Given the description of an element on the screen output the (x, y) to click on. 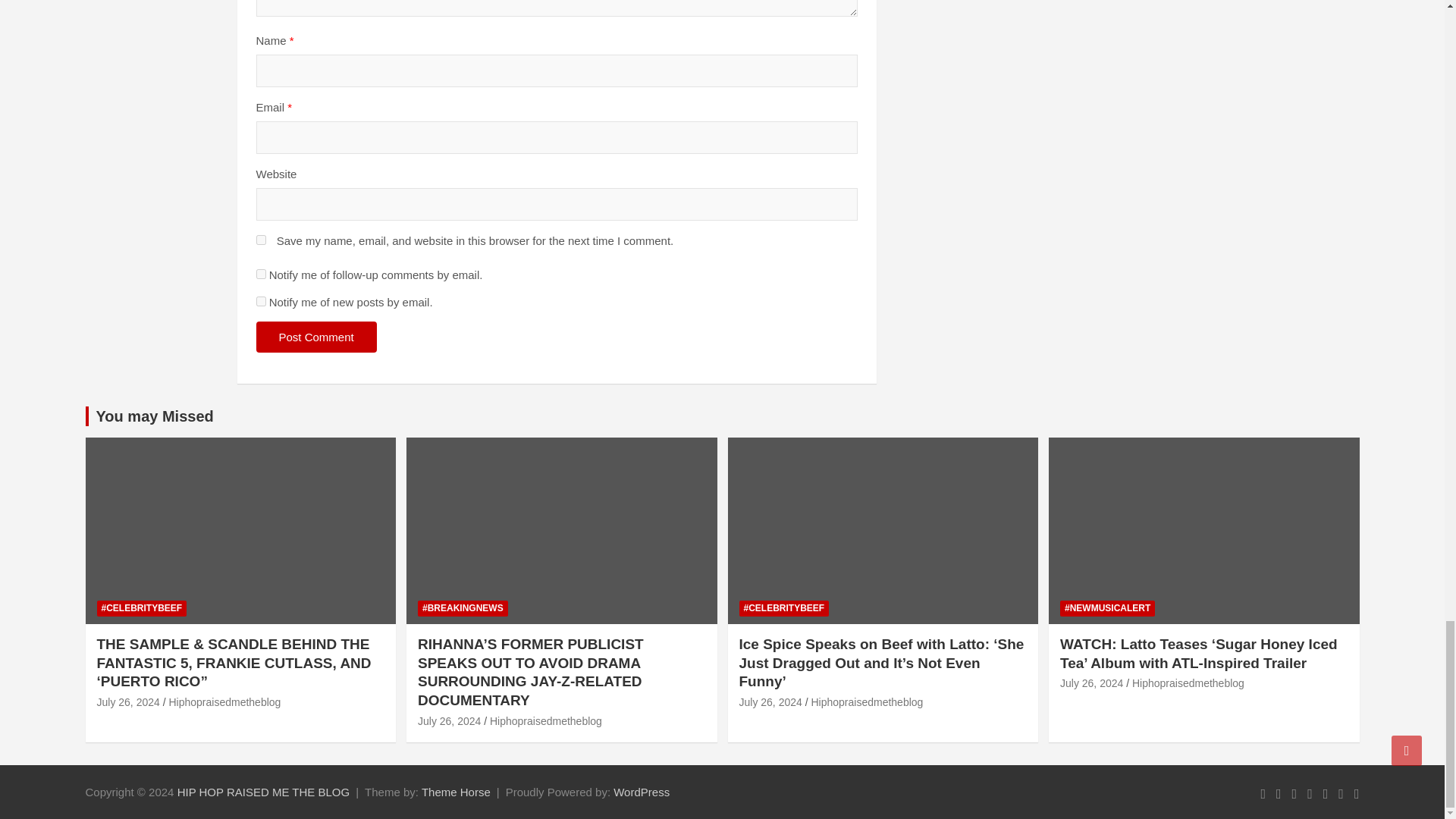
Post Comment (316, 336)
subscribe (261, 274)
yes (261, 239)
subscribe (261, 301)
